Given the description of an element on the screen output the (x, y) to click on. 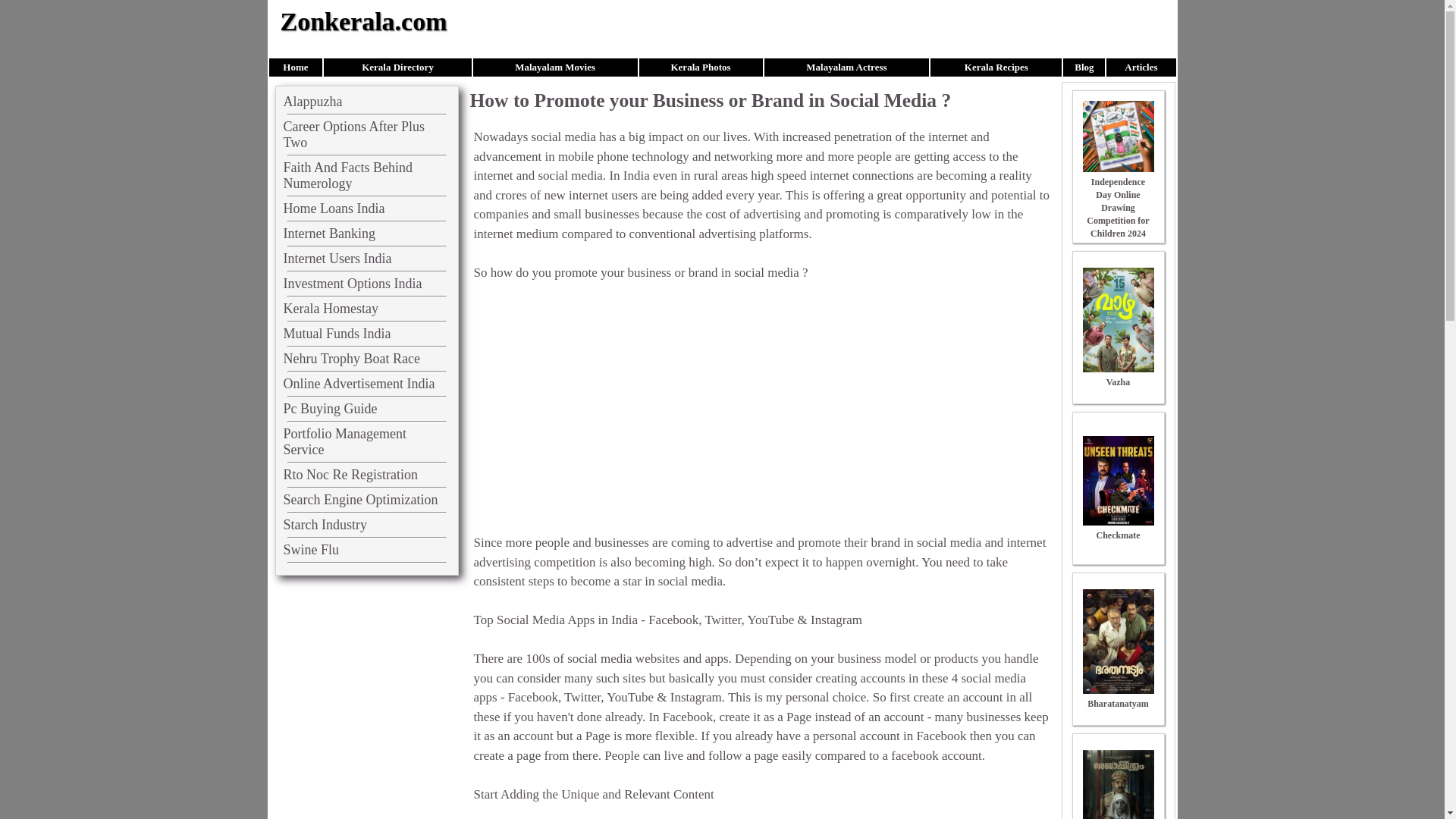
Articles (1140, 66)
Vazha (1118, 375)
Search Engine Optimization (360, 499)
Faith And Facts Behind Numerology (348, 174)
Career Options After Plus Two (354, 133)
Bharatanatyam (1118, 697)
Kerala Homestay (330, 308)
Malayalam Actress (846, 66)
Kerala Recipes (995, 66)
